Given the description of an element on the screen output the (x, y) to click on. 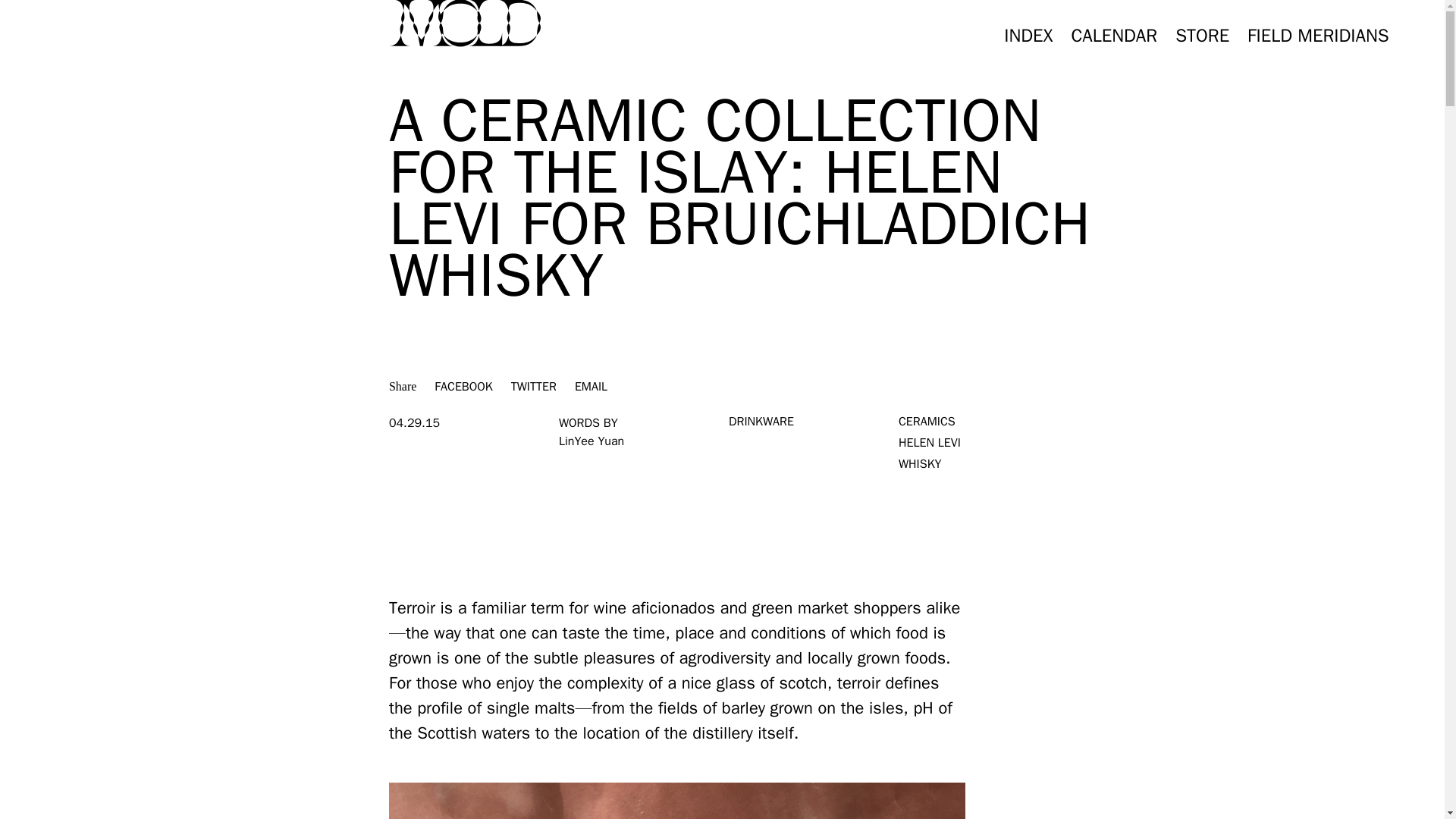
INDEX (1028, 35)
FIELD MERIDIANS (1318, 35)
Email (591, 386)
Home page (464, 23)
CALENDAR (1113, 35)
LinYee Yuan (591, 441)
WHISKY (920, 463)
STORE (1201, 35)
DRINKWARE (761, 421)
EMAIL (591, 386)
HELEN LEVI (929, 442)
CERAMICS (926, 421)
Tweet (533, 386)
FACEBOOK (462, 386)
TWITTER (533, 386)
